Given the description of an element on the screen output the (x, y) to click on. 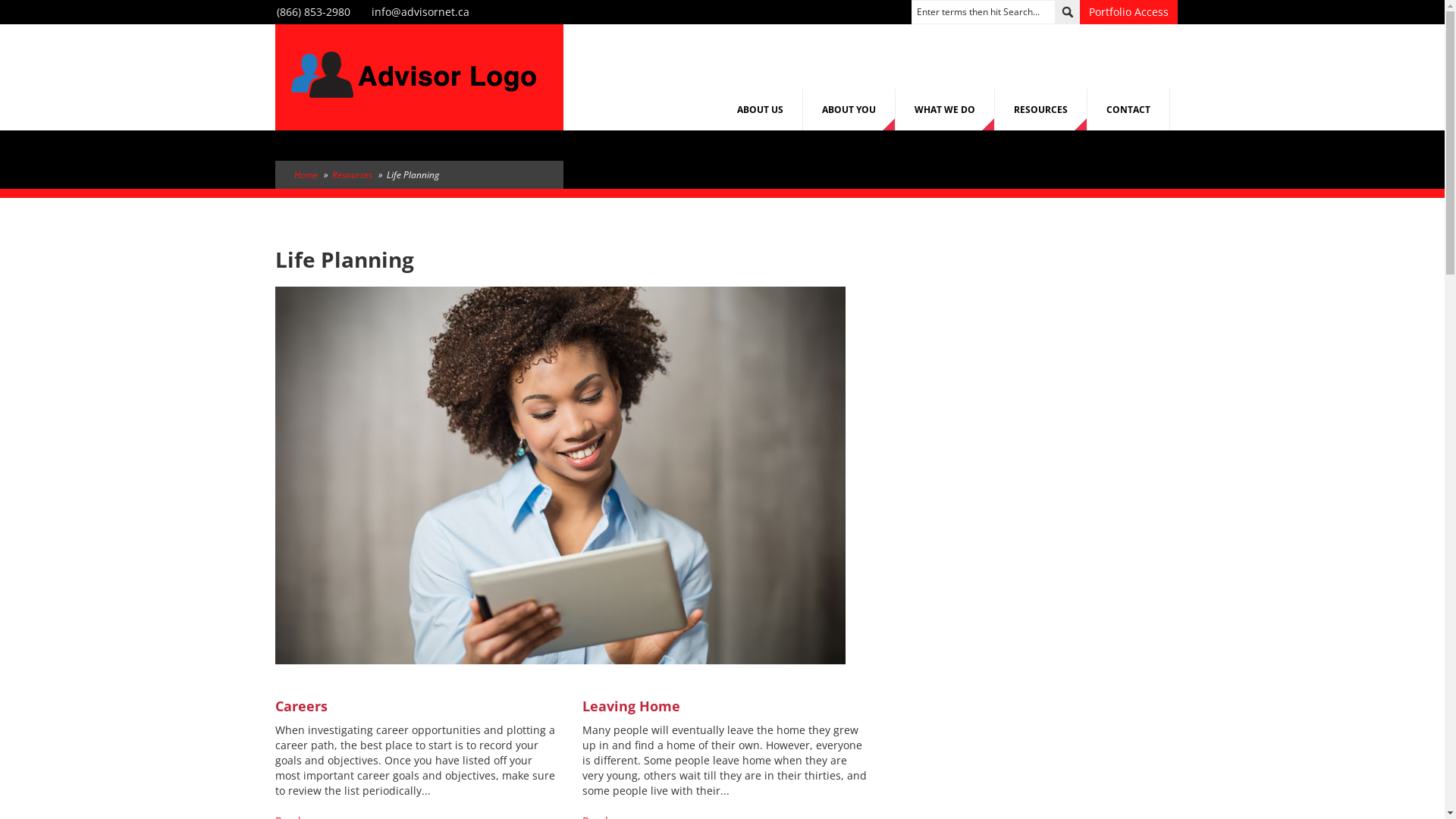
ABOUT YOU Element type: text (848, 109)
Home Element type: hover (412, 76)
(866) 853-2980 Element type: text (312, 11)
RESOURCES Element type: text (1040, 109)
Careers Element type: text (300, 705)
Home Element type: text (305, 174)
Resources Element type: text (352, 174)
CONTACT Element type: text (1128, 109)
info@advisornet.ca Element type: text (420, 11)
Skip to main content Element type: text (52, 0)
ABOUT US Element type: text (759, 109)
Portfolio Access Element type: text (1128, 12)
Leaving Home Element type: text (631, 705)
WHAT WE DO Element type: text (944, 109)
